Given the description of an element on the screen output the (x, y) to click on. 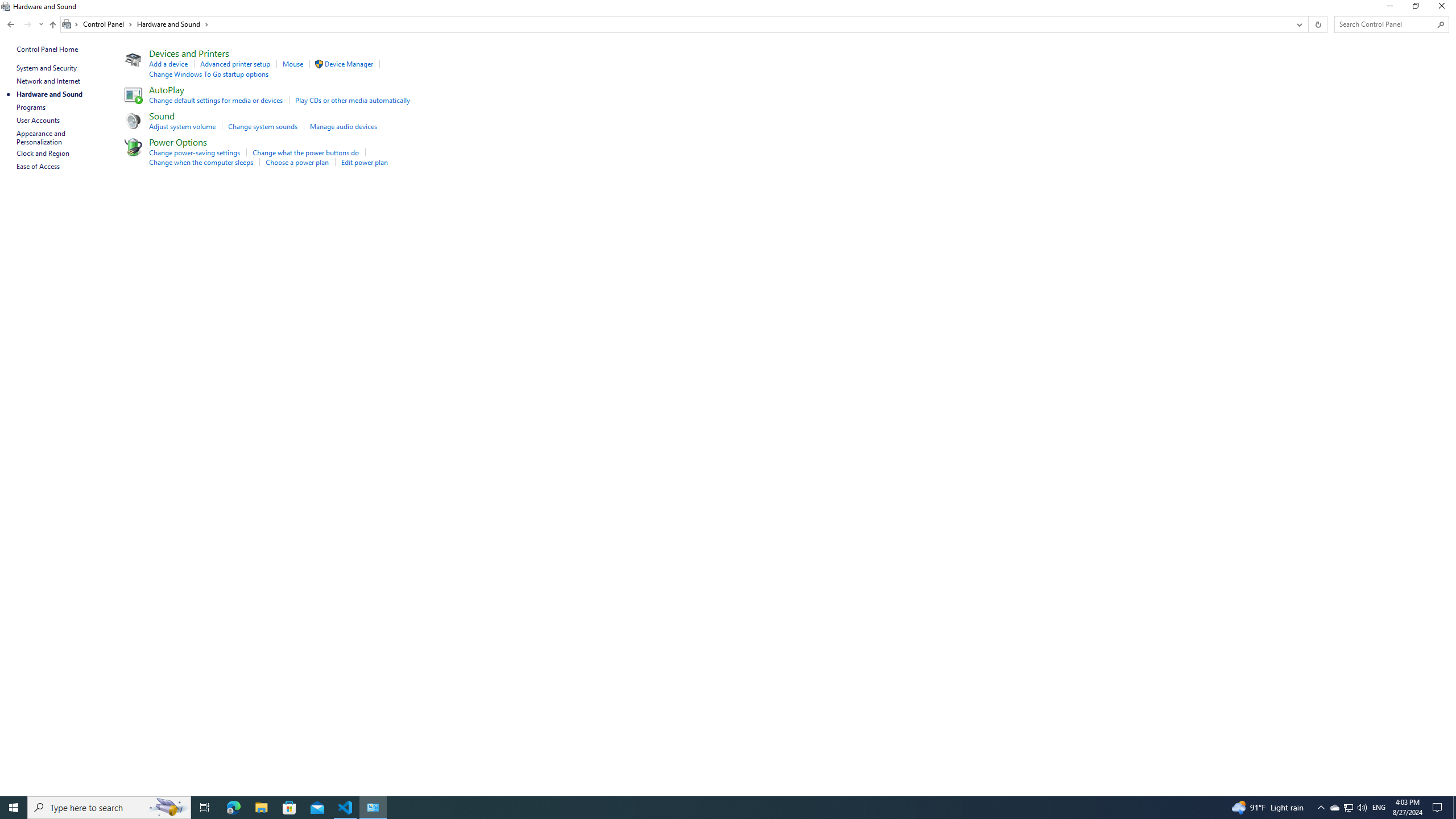
Change when the computer sleeps (201, 162)
Sound (162, 115)
Mouse (292, 63)
Navigation buttons (24, 23)
Adjust system volume (182, 126)
Edit power plan (364, 162)
Appearance and Personalization (42, 137)
Running applications (706, 807)
Up to "Control Panel" (Alt + Up Arrow) (52, 24)
Power Options (178, 141)
Change power-saving settings (194, 152)
System (6, 6)
